Given the description of an element on the screen output the (x, y) to click on. 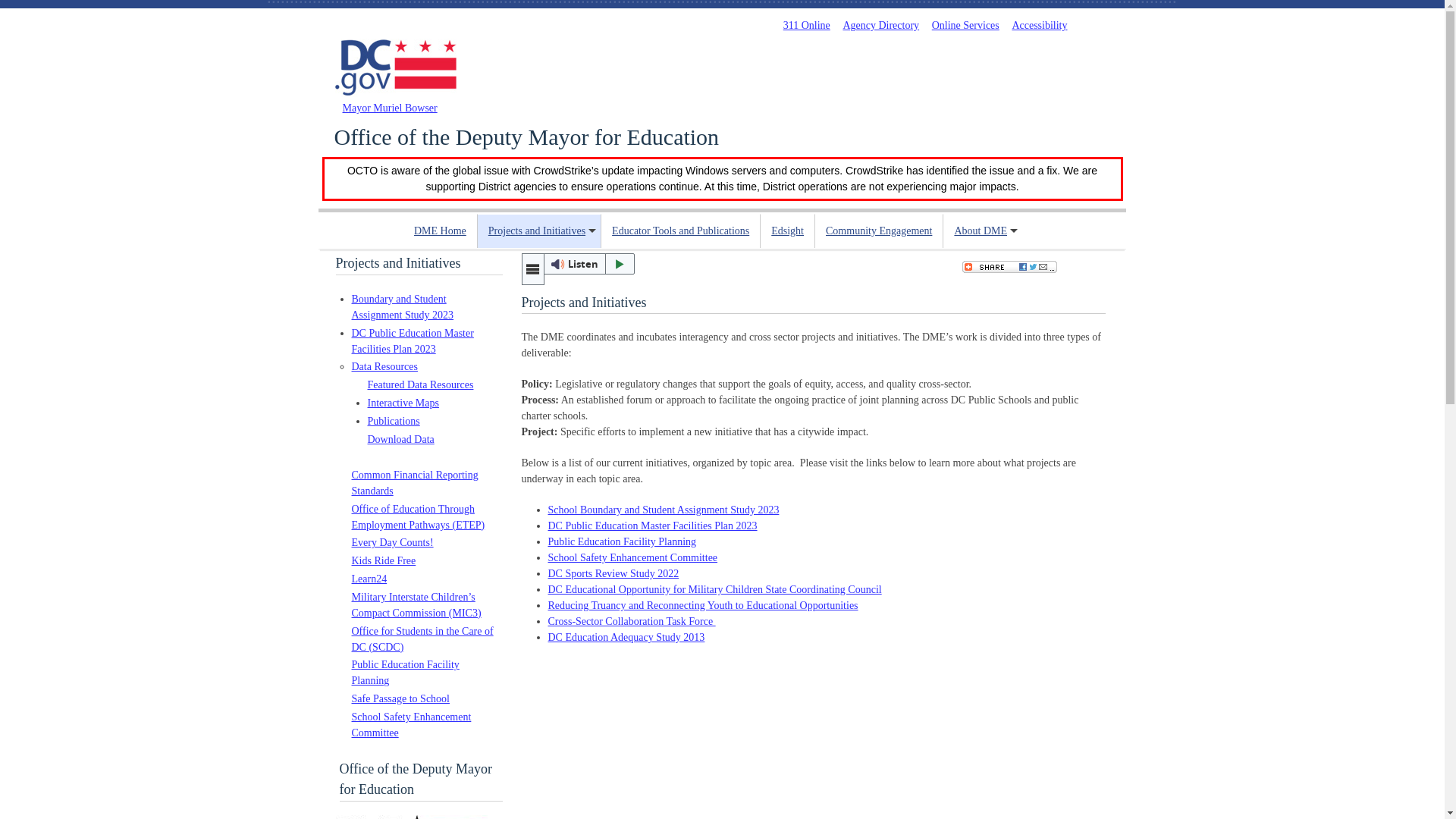
Agency Directory (880, 25)
Accessibility (1039, 25)
Online Services (964, 25)
Online Services (964, 25)
311 Online (806, 25)
311 Online (806, 25)
Mayor Muriel Bowser (390, 107)
Agency Directory (880, 25)
Accessibility (1039, 25)
